Given the description of an element on the screen output the (x, y) to click on. 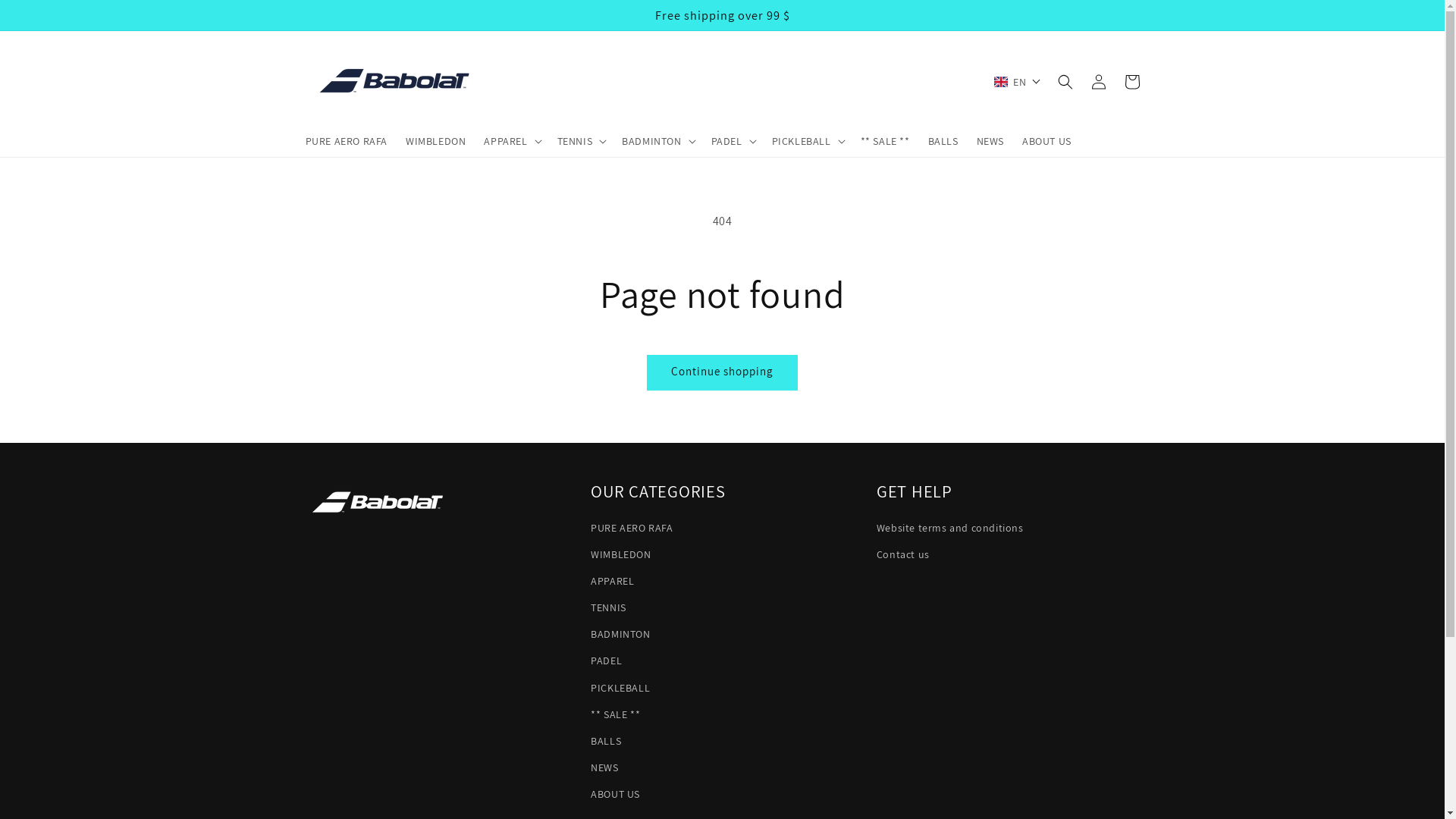
PURE AERO RAFA Element type: text (345, 140)
** SALE ** Element type: text (885, 140)
BALLS Element type: text (943, 140)
TENNIS Element type: text (608, 607)
Contact us Element type: text (902, 554)
WIMBLEDON Element type: text (620, 554)
APPAREL Element type: text (611, 580)
BADMINTON Element type: text (619, 634)
Website terms and conditions Element type: text (949, 529)
PADEL Element type: text (605, 660)
ABOUT US Element type: text (615, 794)
Log in Element type: text (1097, 81)
WIMBLEDON Element type: text (435, 140)
Continue shopping Element type: text (722, 372)
NEWS Element type: text (604, 767)
BALLS Element type: text (605, 741)
** SALE ** Element type: text (615, 714)
NEWS Element type: text (990, 140)
ABOUT US Element type: text (1046, 140)
PICKLEBALL Element type: text (619, 687)
Cart Element type: text (1131, 81)
PURE AERO RAFA Element type: text (631, 529)
